Given the description of an element on the screen output the (x, y) to click on. 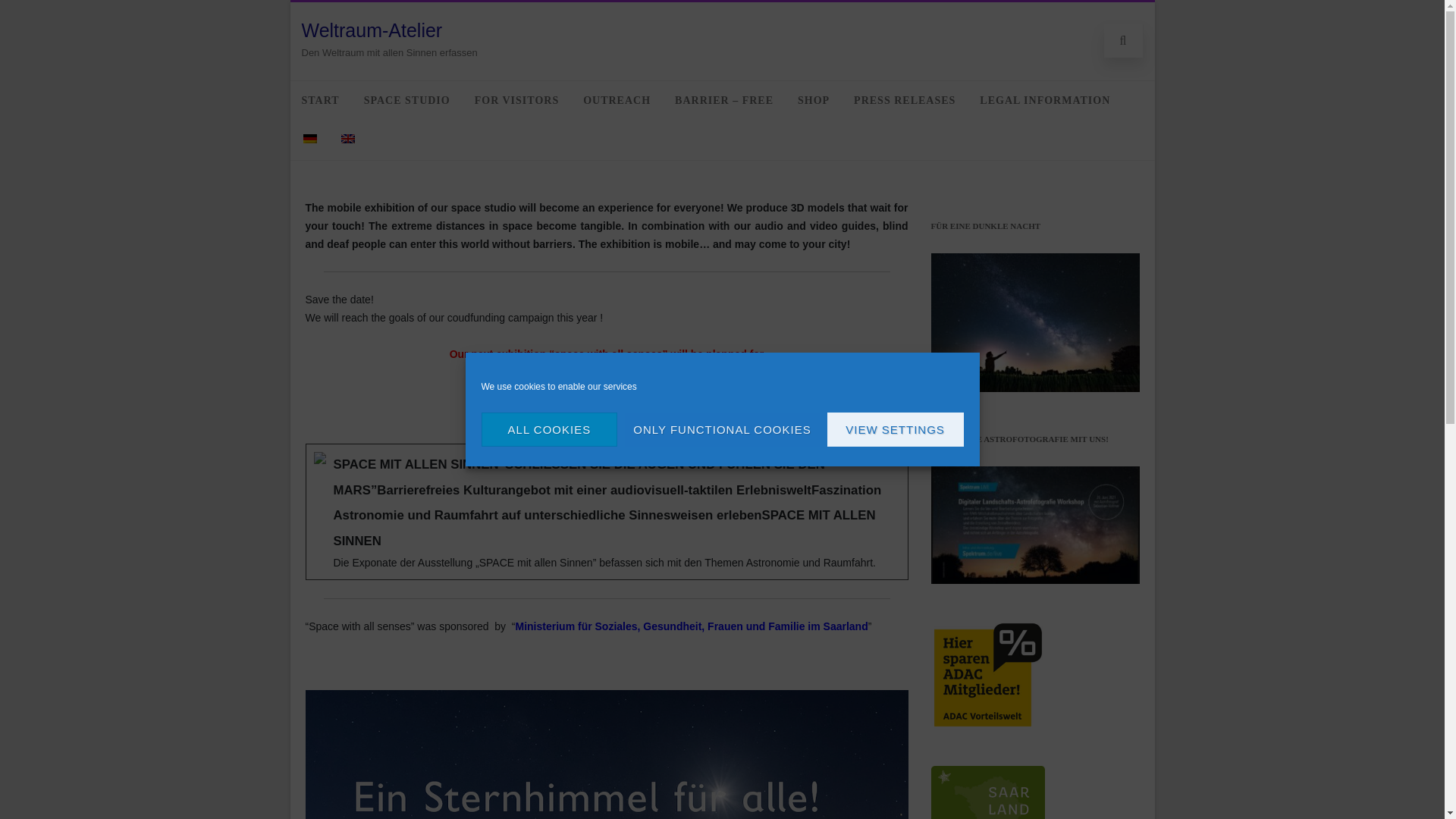
Weltraum-Atelier (371, 29)
PRESS RELEASES (904, 100)
OUTREACH (617, 100)
NEU: Lerne Astrofotografie mit uns! (1035, 524)
SPACE STUDIO (406, 100)
FOR VISITORS (516, 100)
Weltraum-Atelier (371, 29)
ONLY FUNCTIONAL COOKIES (721, 429)
SHOP (813, 100)
START (319, 100)
